Given the description of an element on the screen output the (x, y) to click on. 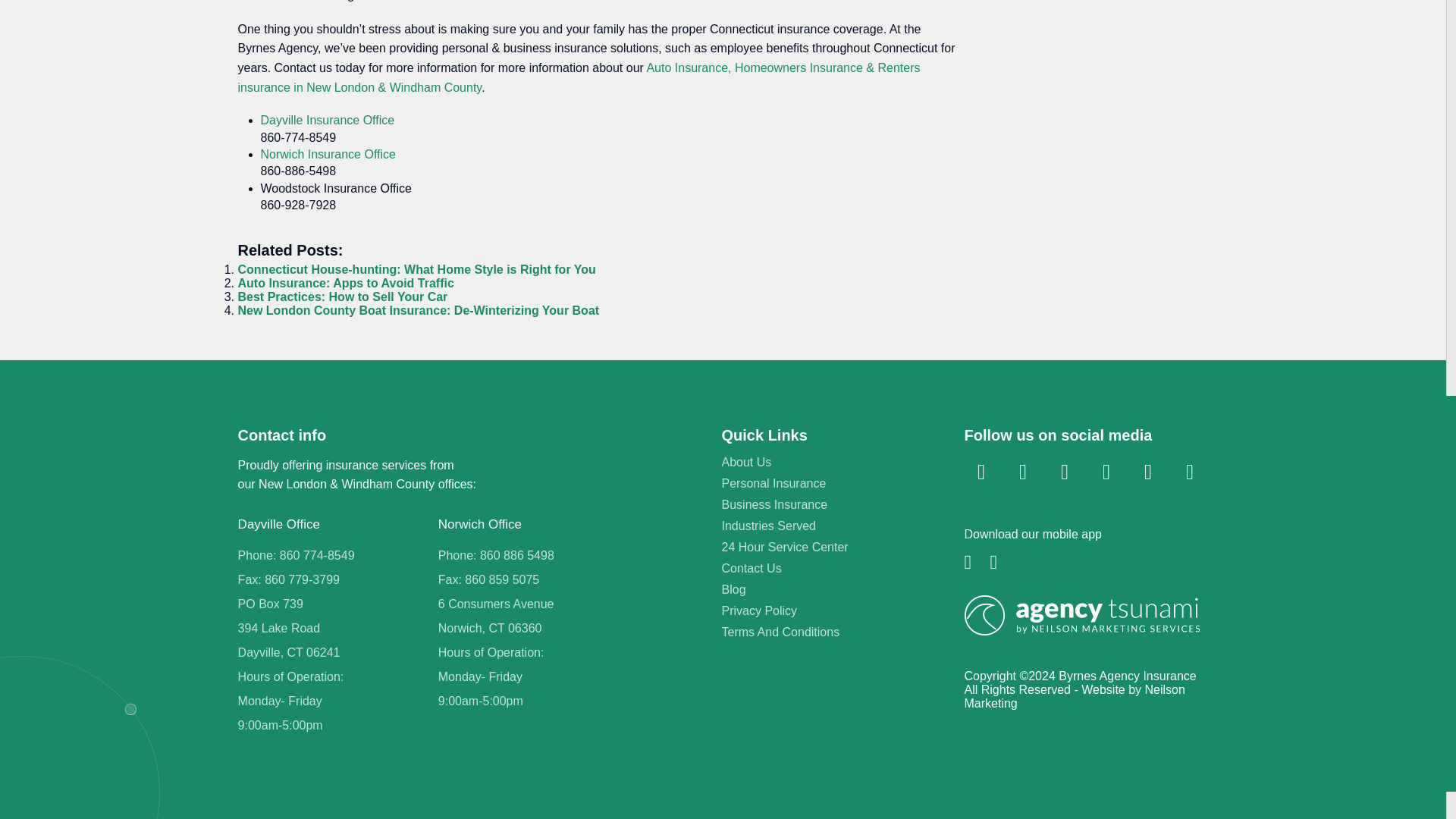
Official Twitter accounts (1064, 472)
Best Practices: How to Sell Your Car (343, 296)
New London County Boat Insurance: De-Winterizing Your Boat (418, 309)
Official Facebook page (980, 472)
Connecticut House-hunting: What Home Style is Right for You (416, 269)
Official Youtube channel (1105, 472)
Auto Insurance: Apps to Avoid Traffic (346, 282)
Official Pinterest channel (1148, 472)
Official Linkedin profile (1022, 472)
Google (1189, 472)
